Given the description of an element on the screen output the (x, y) to click on. 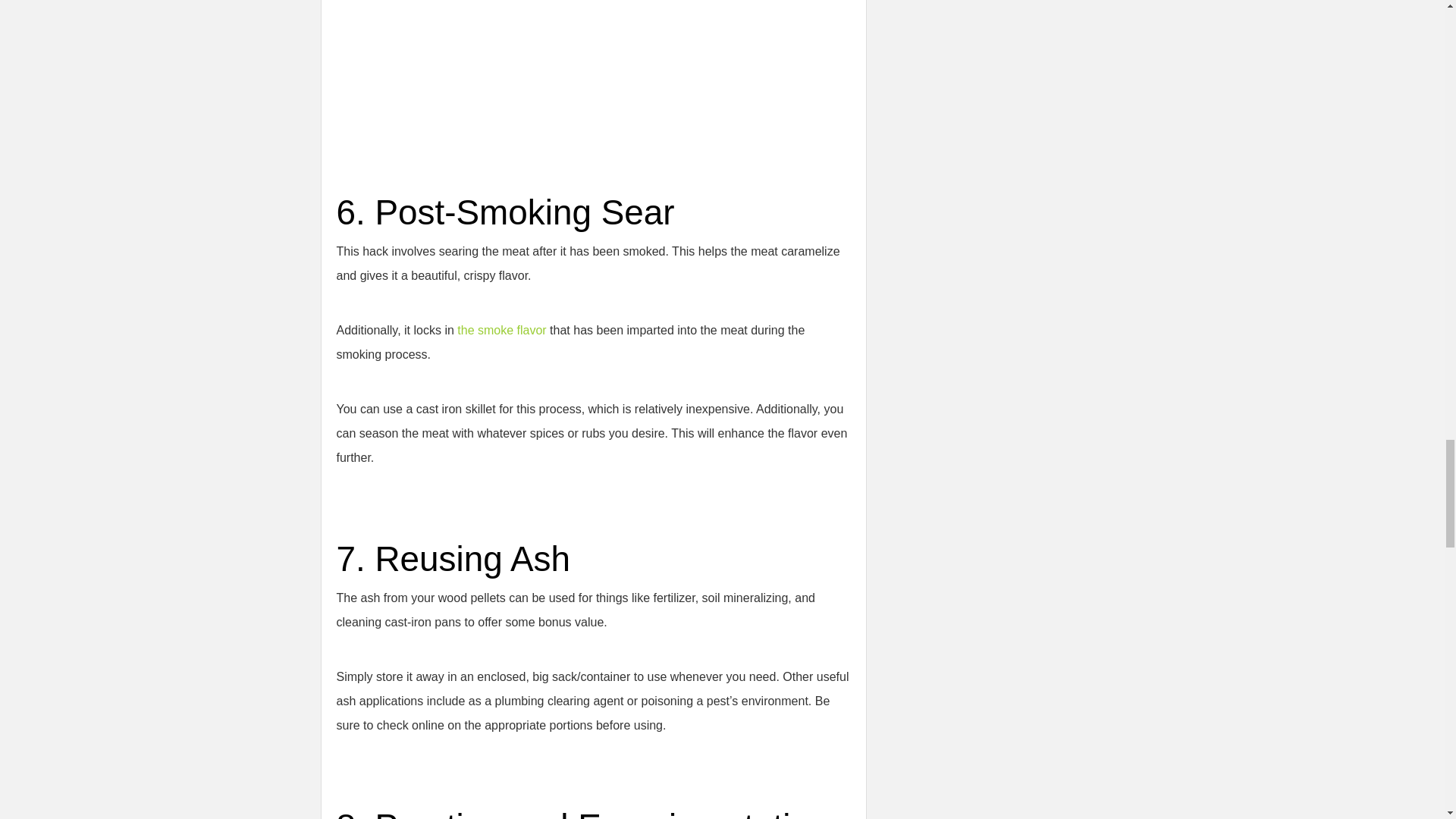
the smoke flavor (501, 329)
